Given the description of an element on the screen output the (x, y) to click on. 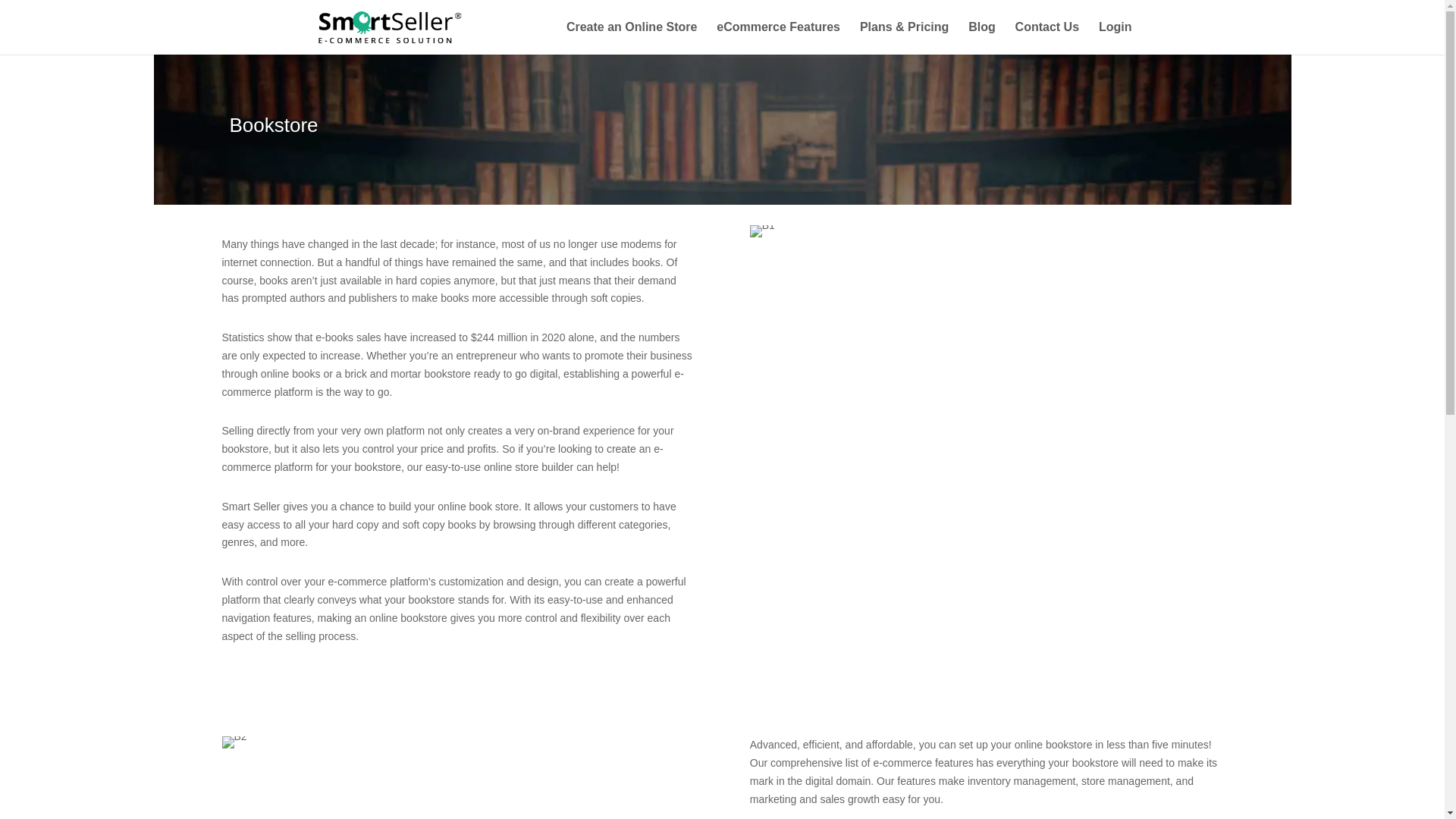
Create an Online Store (631, 38)
Login (1115, 38)
B1 (761, 231)
eCommerce Features (778, 38)
Contact Us (1046, 38)
B2 (233, 742)
